Given the description of an element on the screen output the (x, y) to click on. 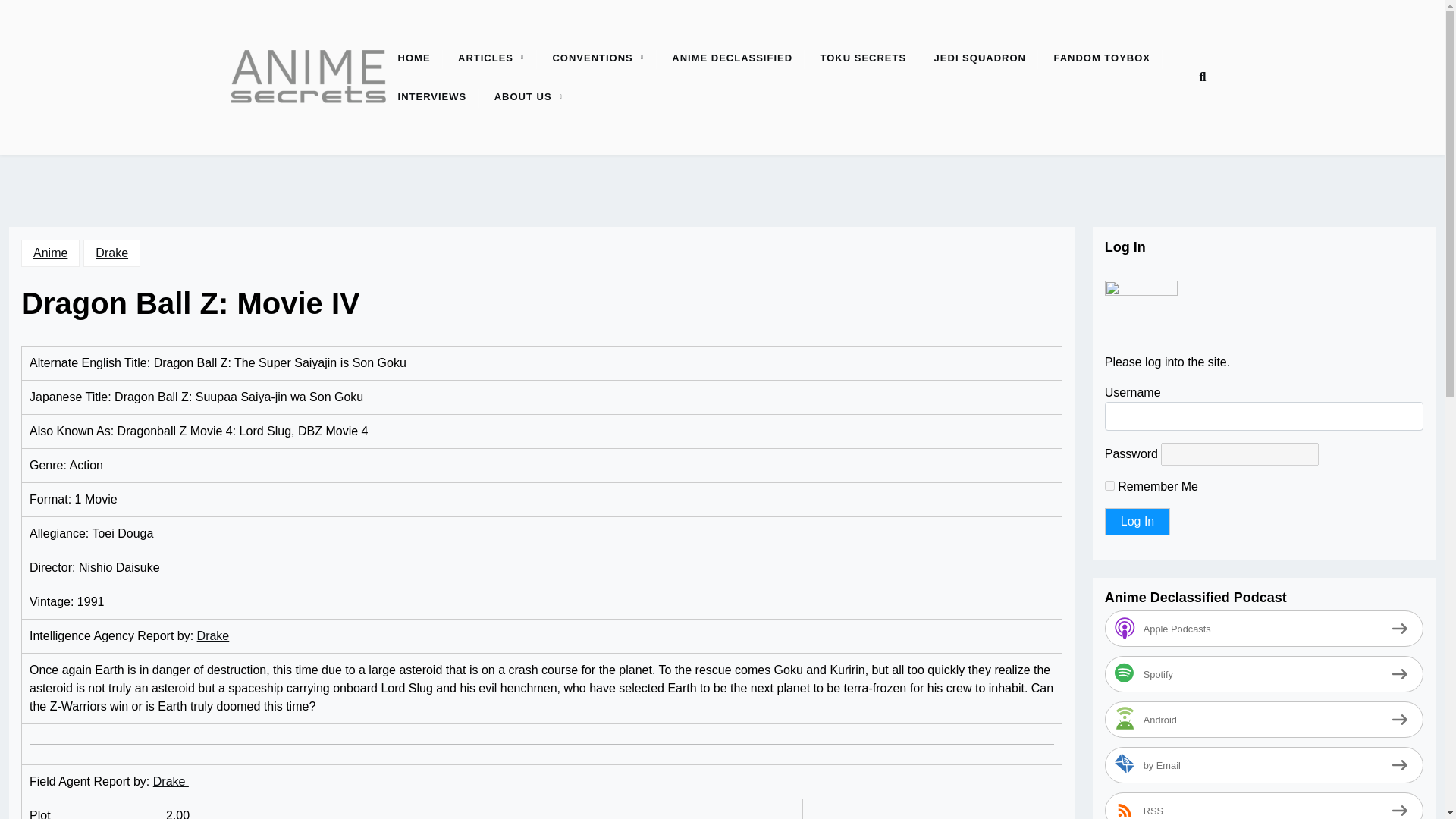
Log In (1137, 521)
Subscribe via RSS (1264, 805)
HOME (413, 57)
forever (1110, 485)
Subscribe by Email (1264, 764)
Subscribe on Android (1264, 719)
Subscribe on Spotify (1264, 674)
Subscribe on Apple Podcasts (1264, 628)
ARTICLES (485, 57)
